Given the description of an element on the screen output the (x, y) to click on. 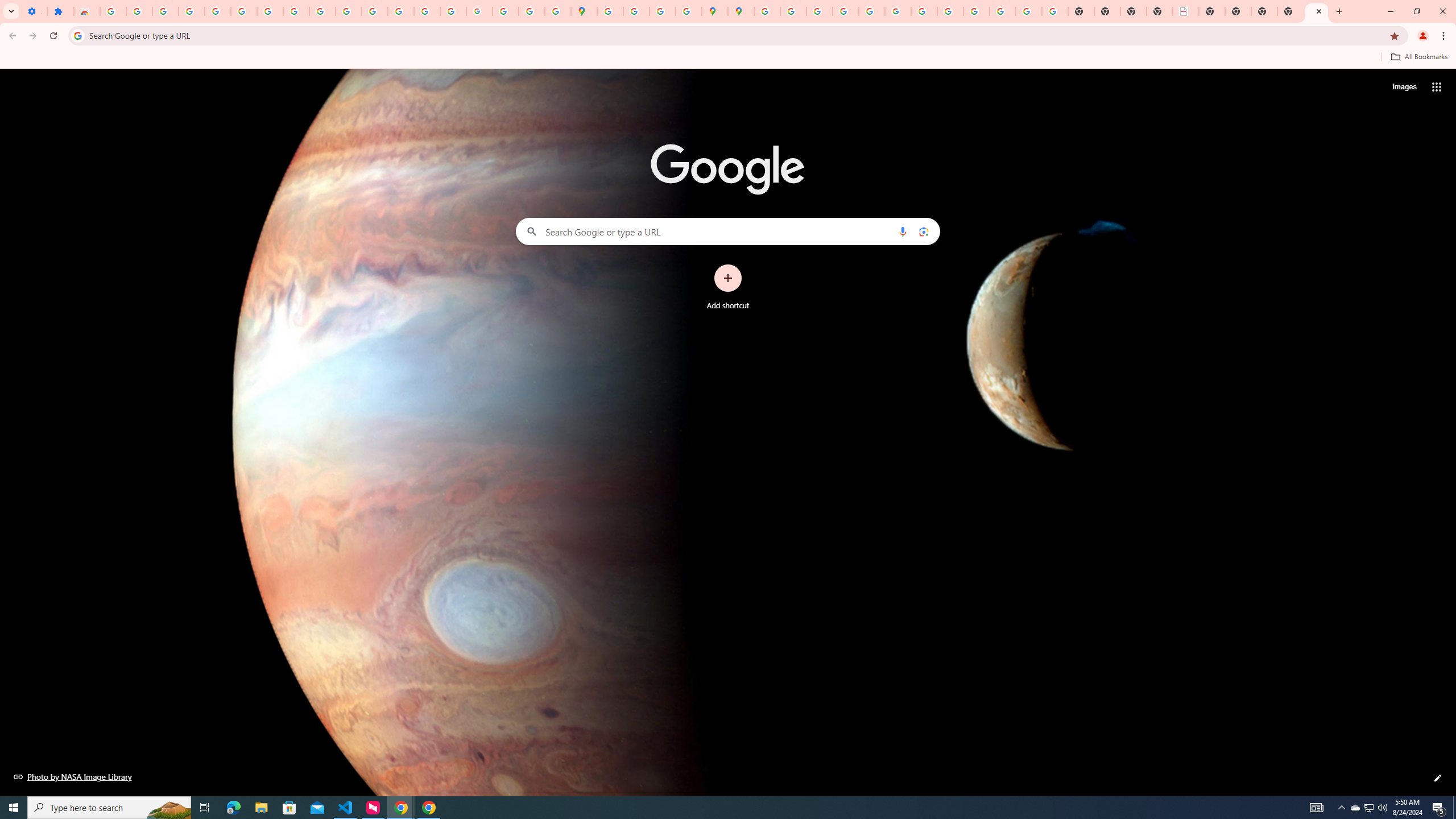
Sign in - Google Accounts (766, 11)
YouTube (923, 11)
New Tab (1316, 11)
